Given the description of an element on the screen output the (x, y) to click on. 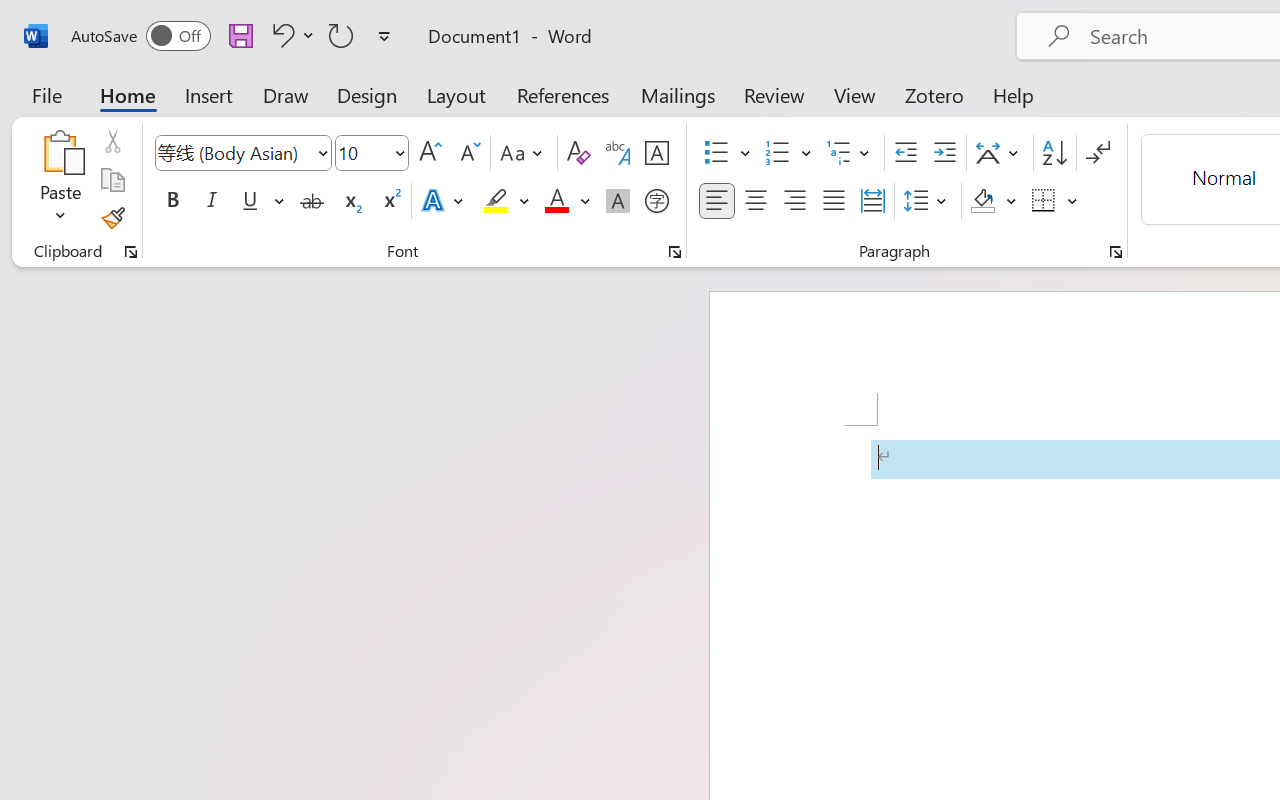
Undo Apply Quick Style (280, 35)
